Given the description of an element on the screen output the (x, y) to click on. 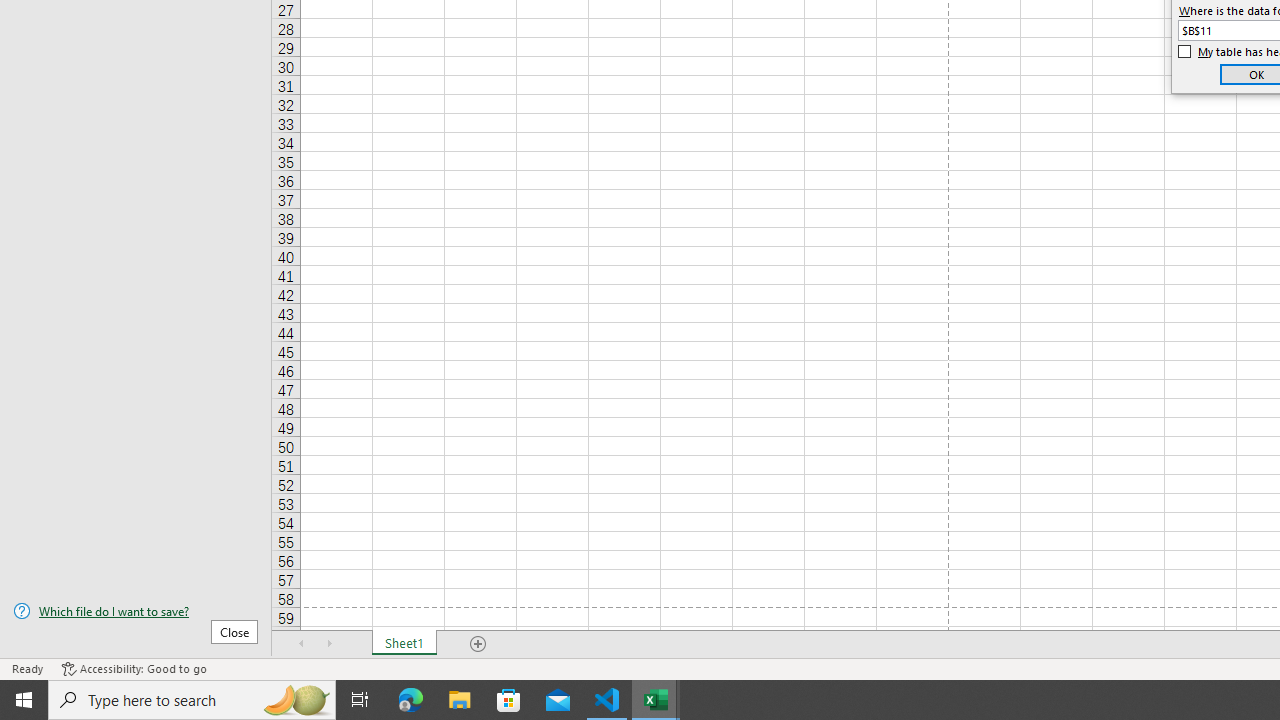
Add Sheet (478, 644)
Accessibility Checker Accessibility: Good to go (134, 668)
Sheet1 (404, 644)
Scroll Left (302, 644)
Scroll Right (330, 644)
Which file do I want to save? (136, 611)
